Given the description of an element on the screen output the (x, y) to click on. 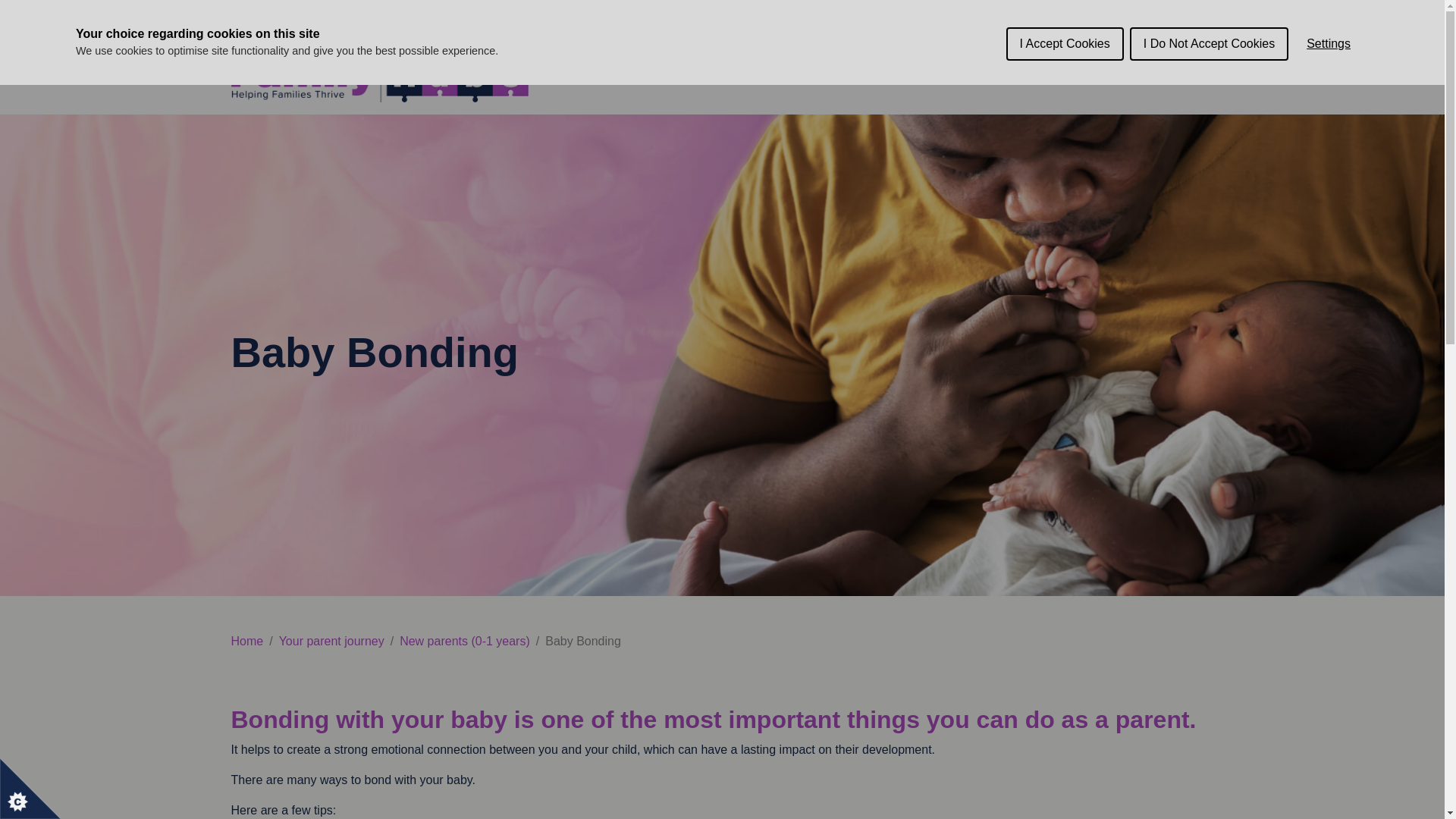
Your parent journey (711, 71)
About Us (602, 71)
Settings (1328, 35)
I Do Not Accept Cookies (1208, 29)
Home (246, 640)
Instagram (1151, 70)
I Accept Cookies (1065, 27)
Your parent journey (331, 640)
YouTube (1177, 70)
Return to homepage (382, 70)
Contact Us (1067, 71)
Facebook (1125, 70)
News (1000, 71)
